Given the description of an element on the screen output the (x, y) to click on. 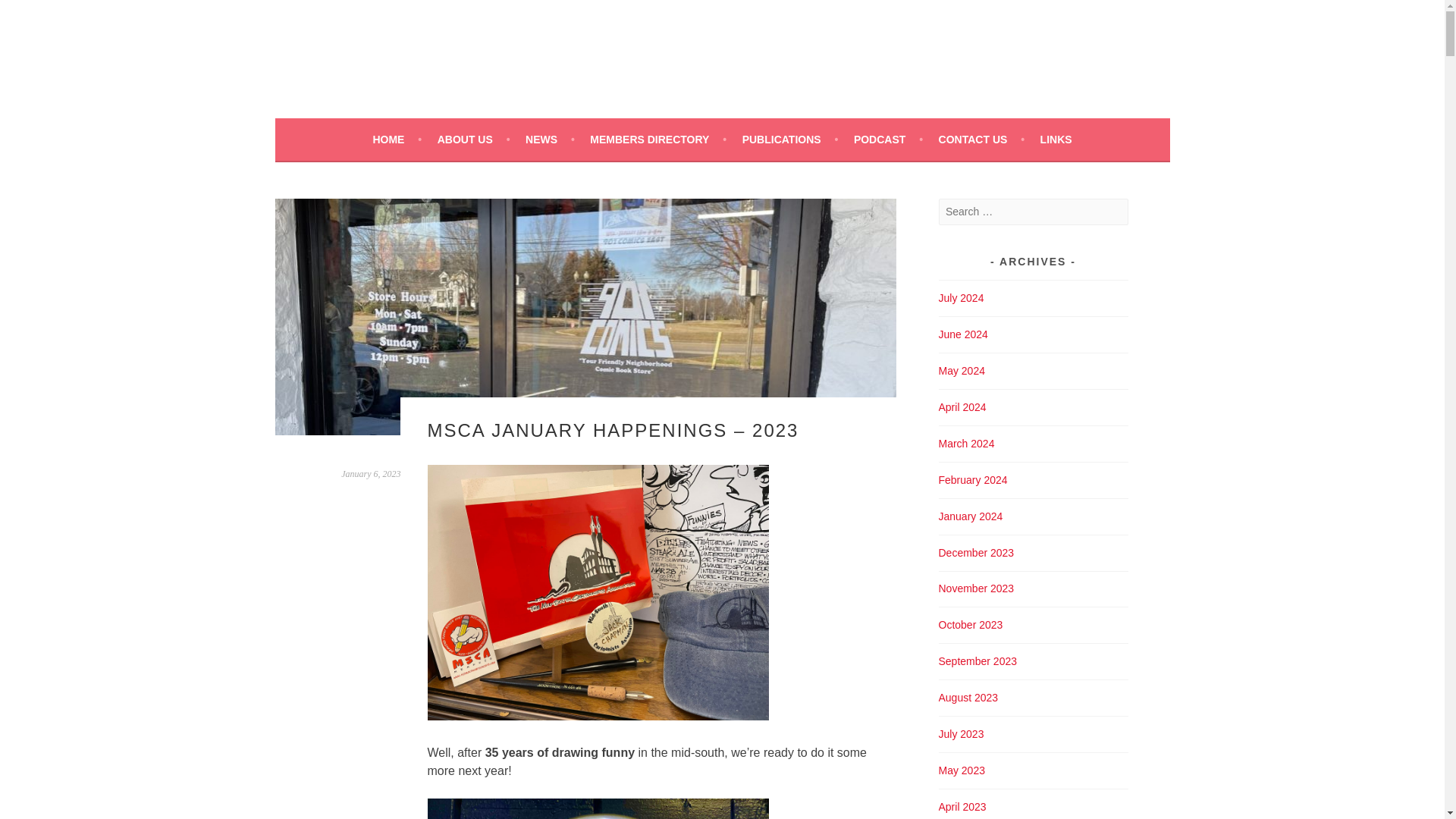
NEWS (550, 139)
PODCAST (888, 139)
MID-SOUTH CARTOONISTS ASSOCIATION (615, 53)
LINKS (1056, 139)
HOME (397, 139)
MEMBERS DIRECTORY (657, 139)
Mid-South Cartoonists Association (615, 53)
ABOUT US (474, 139)
PUBLICATIONS (790, 139)
CONTACT US (982, 139)
January 6, 2023 (370, 473)
